Given the description of an element on the screen output the (x, y) to click on. 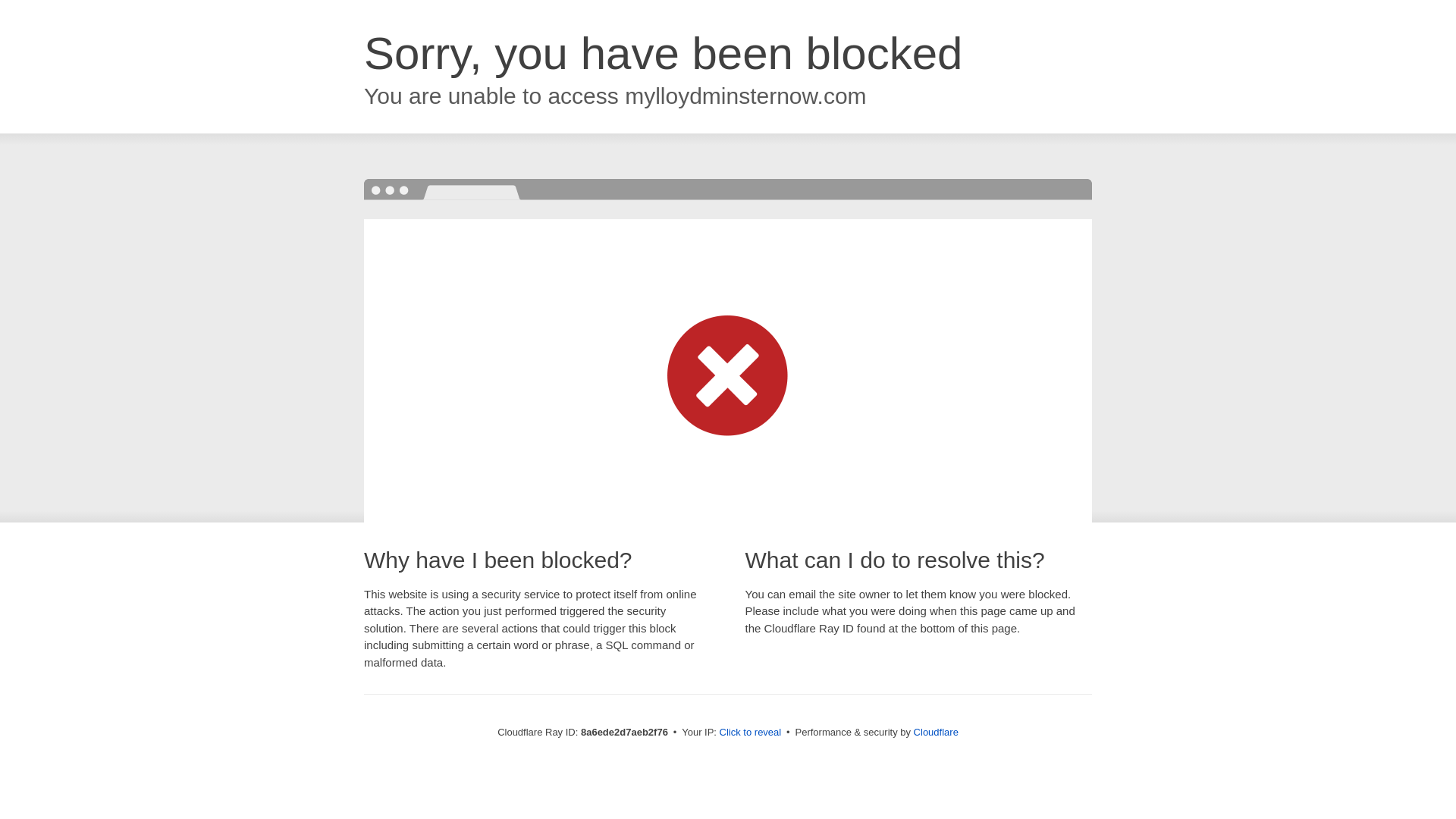
Click to reveal (750, 732)
Cloudflare (936, 731)
